Given the description of an element on the screen output the (x, y) to click on. 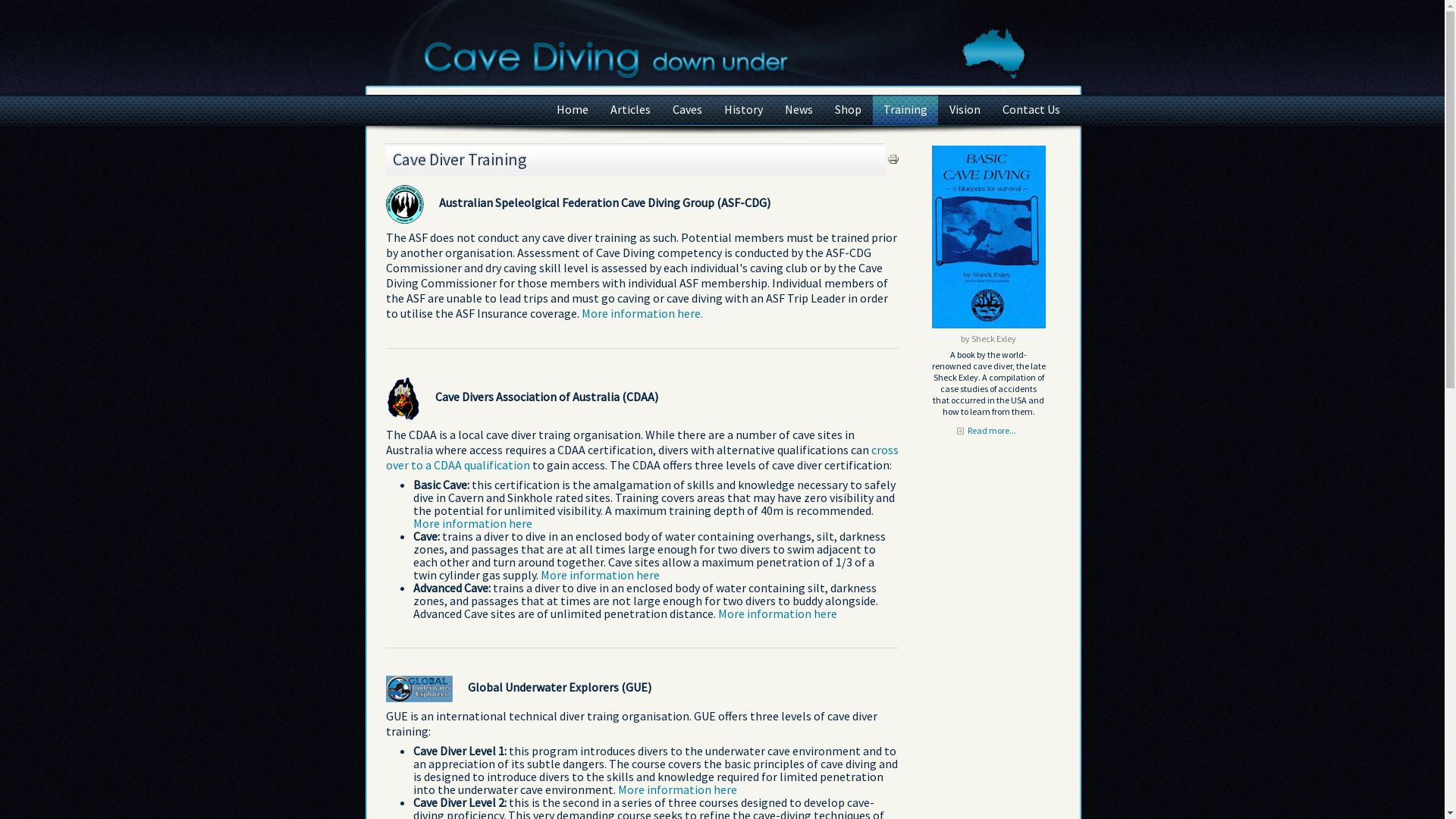
Vision Element type: text (964, 109)
Home Element type: text (572, 109)
cross over to a CDAA qualification Element type: text (641, 457)
More information here. Element type: text (641, 312)
History Element type: text (742, 109)
Articles Element type: text (629, 109)
Print Element type: hover (893, 160)
More information here Element type: text (776, 613)
More information here Element type: text (676, 789)
News Element type: text (797, 109)
Training Element type: text (904, 109)
Read more... Element type: text (988, 431)
Caves Element type: text (686, 109)
Cave Diver Training Element type: text (459, 158)
Contact Us Element type: text (1030, 109)
More information here Element type: text (471, 522)
Shop Element type: text (847, 109)
More information here Element type: text (598, 574)
Shop Online Element type: hover (987, 324)
